Given the description of an element on the screen output the (x, y) to click on. 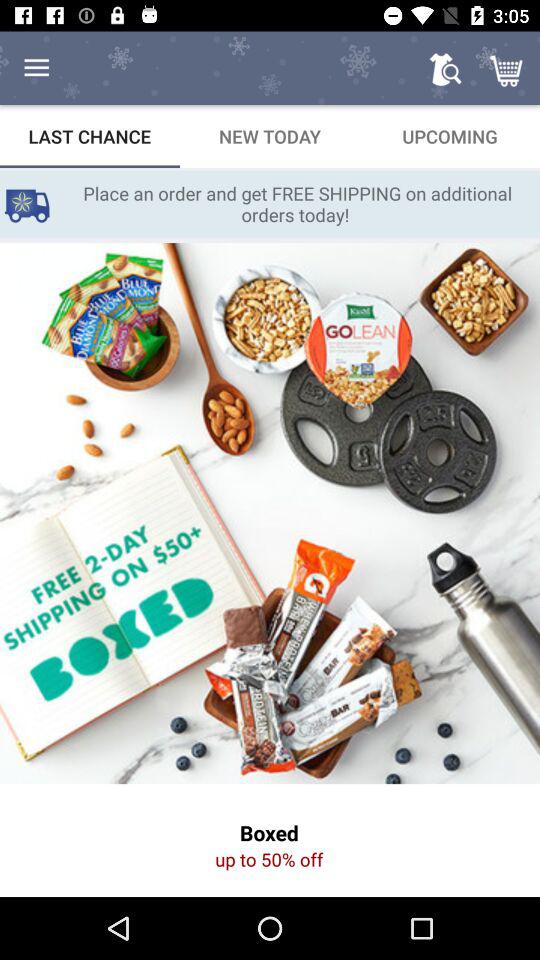
select the item above upcoming item (444, 67)
